Given the description of an element on the screen output the (x, y) to click on. 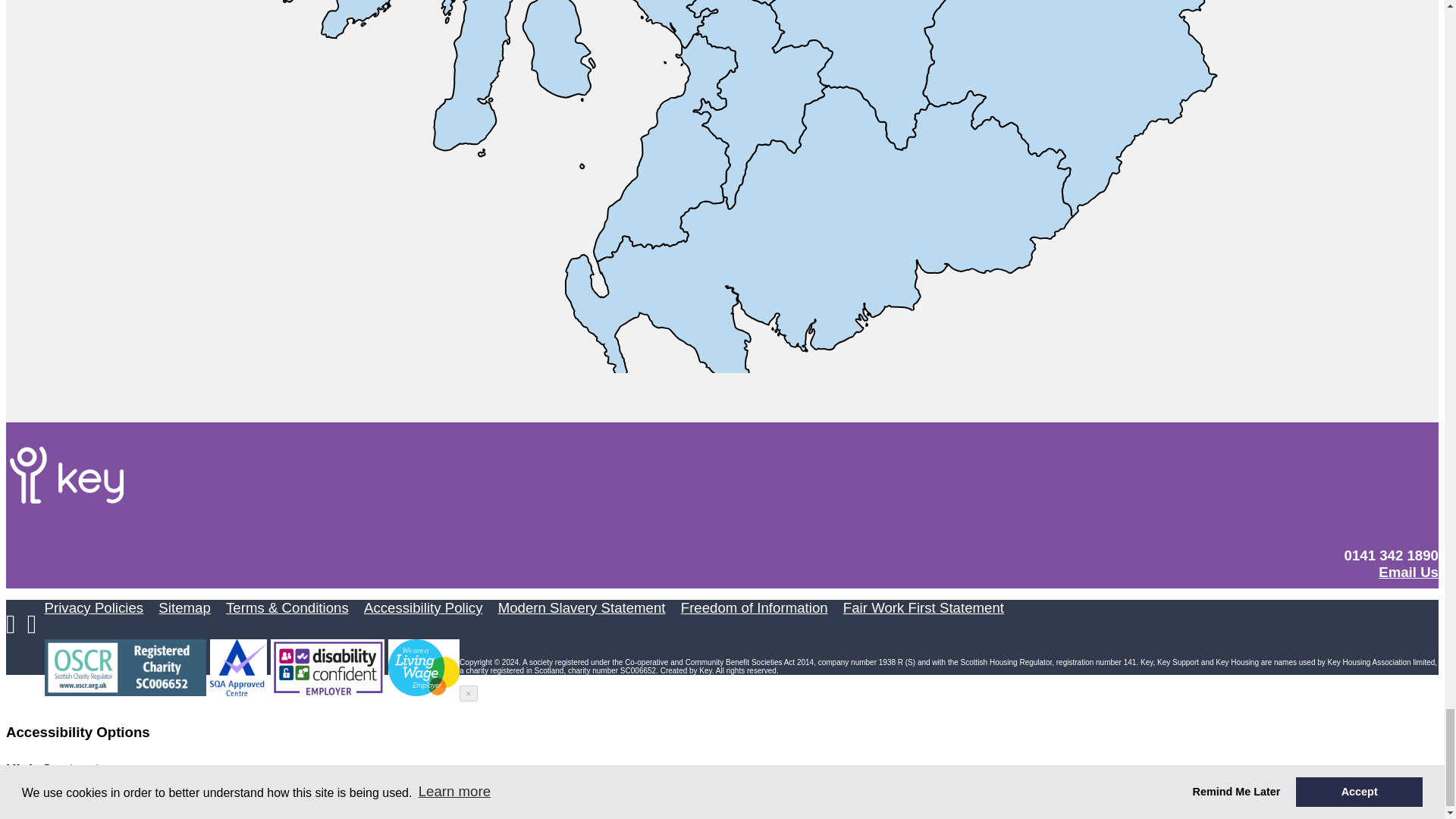
East Renfrewshire (740, 2)
Scottish Borders (1082, 108)
Argyll and Bute (445, 75)
